Given the description of an element on the screen output the (x, y) to click on. 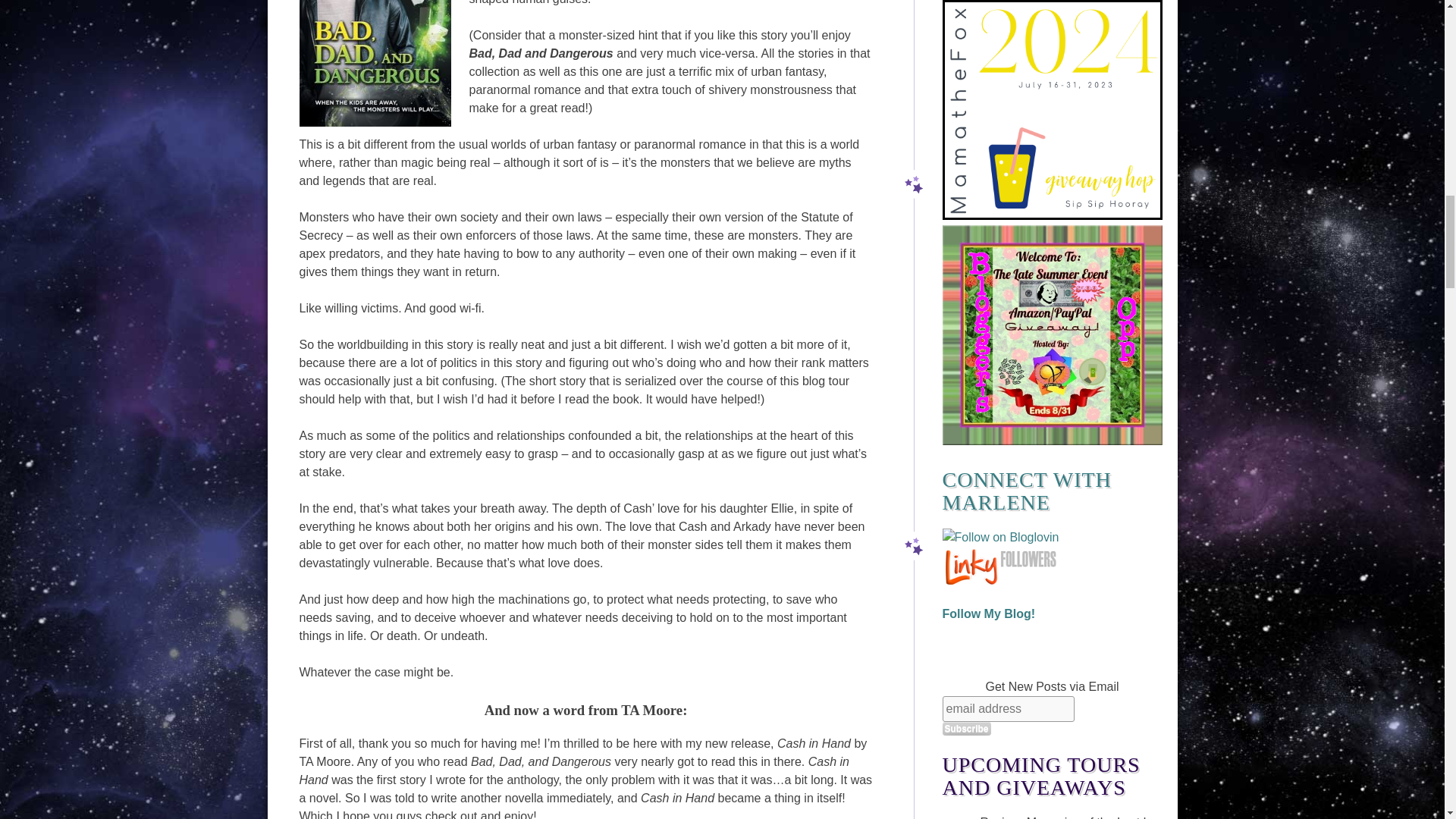
Subscribe (966, 728)
Follow Escape Reality, Read Fiction! on Bloglovin (1000, 536)
